Given the description of an element on the screen output the (x, y) to click on. 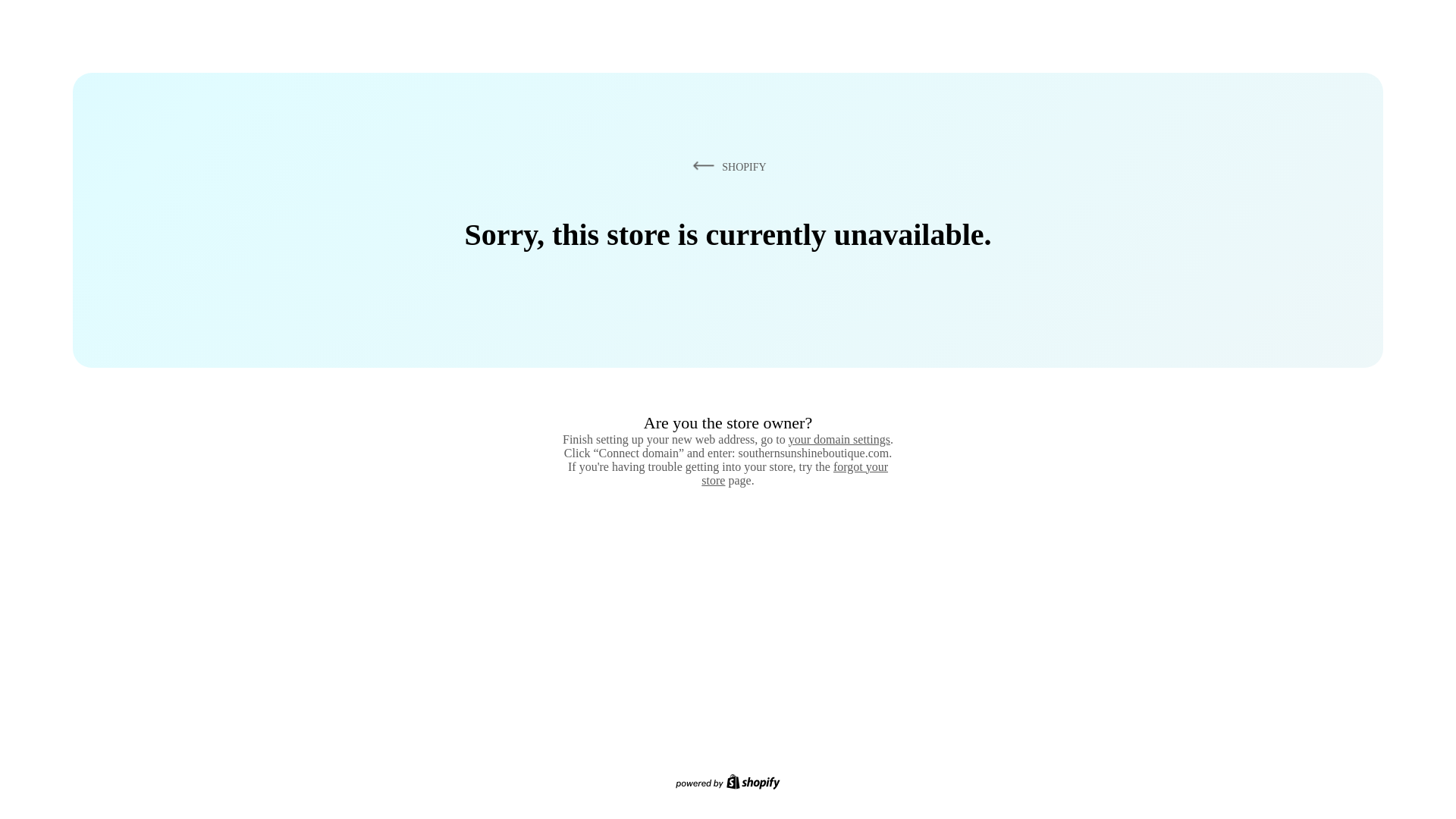
your domain settings (839, 439)
SHOPIFY (726, 166)
forgot your store (794, 473)
